Given the description of an element on the screen output the (x, y) to click on. 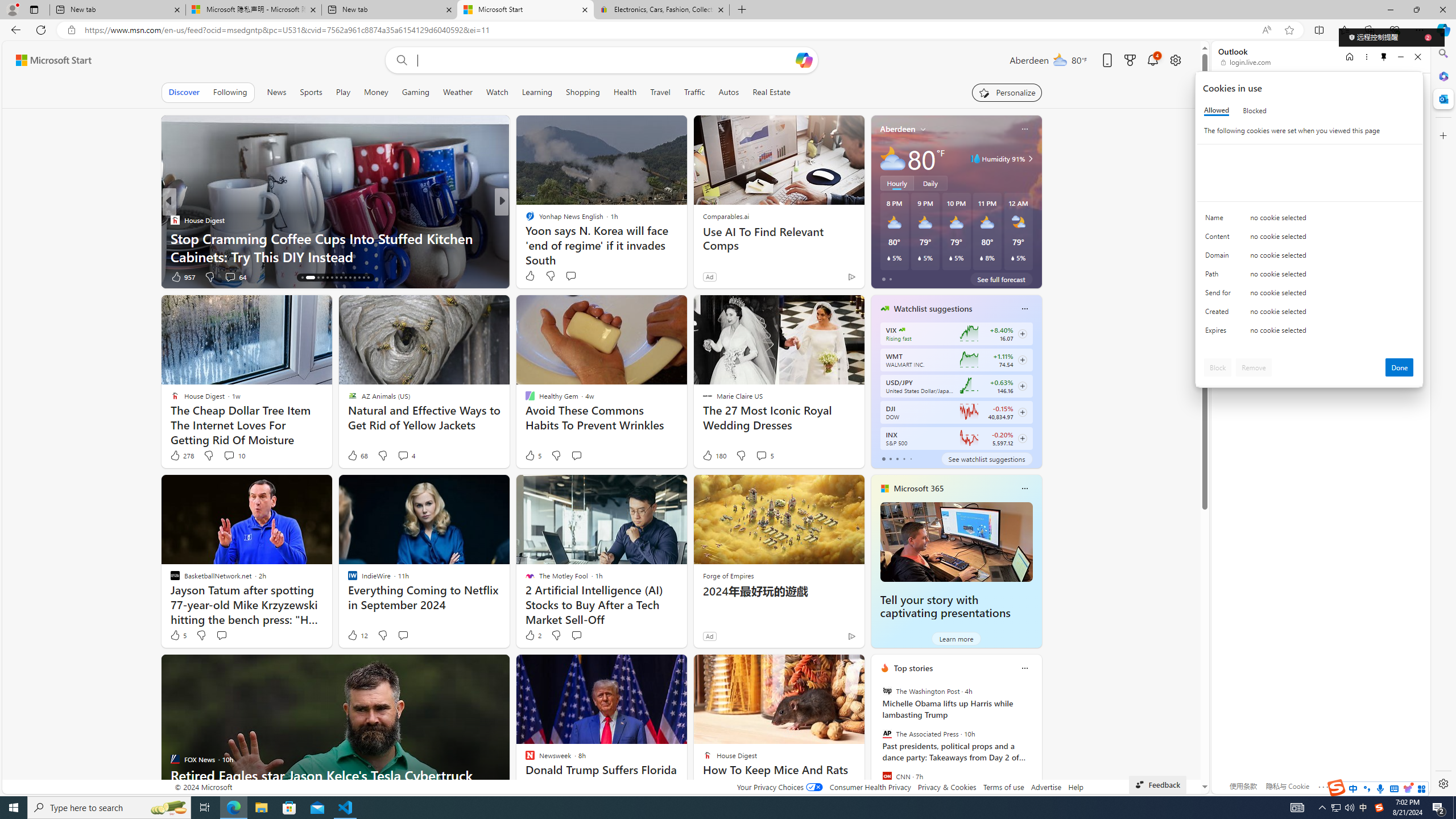
tab-4 (910, 458)
AutomationID: tab-18 (322, 277)
The Associated Press (886, 733)
EssentiallySports (524, 219)
Popular Mechanics (524, 219)
AutomationID: tab-15 (301, 277)
